Given the description of an element on the screen output the (x, y) to click on. 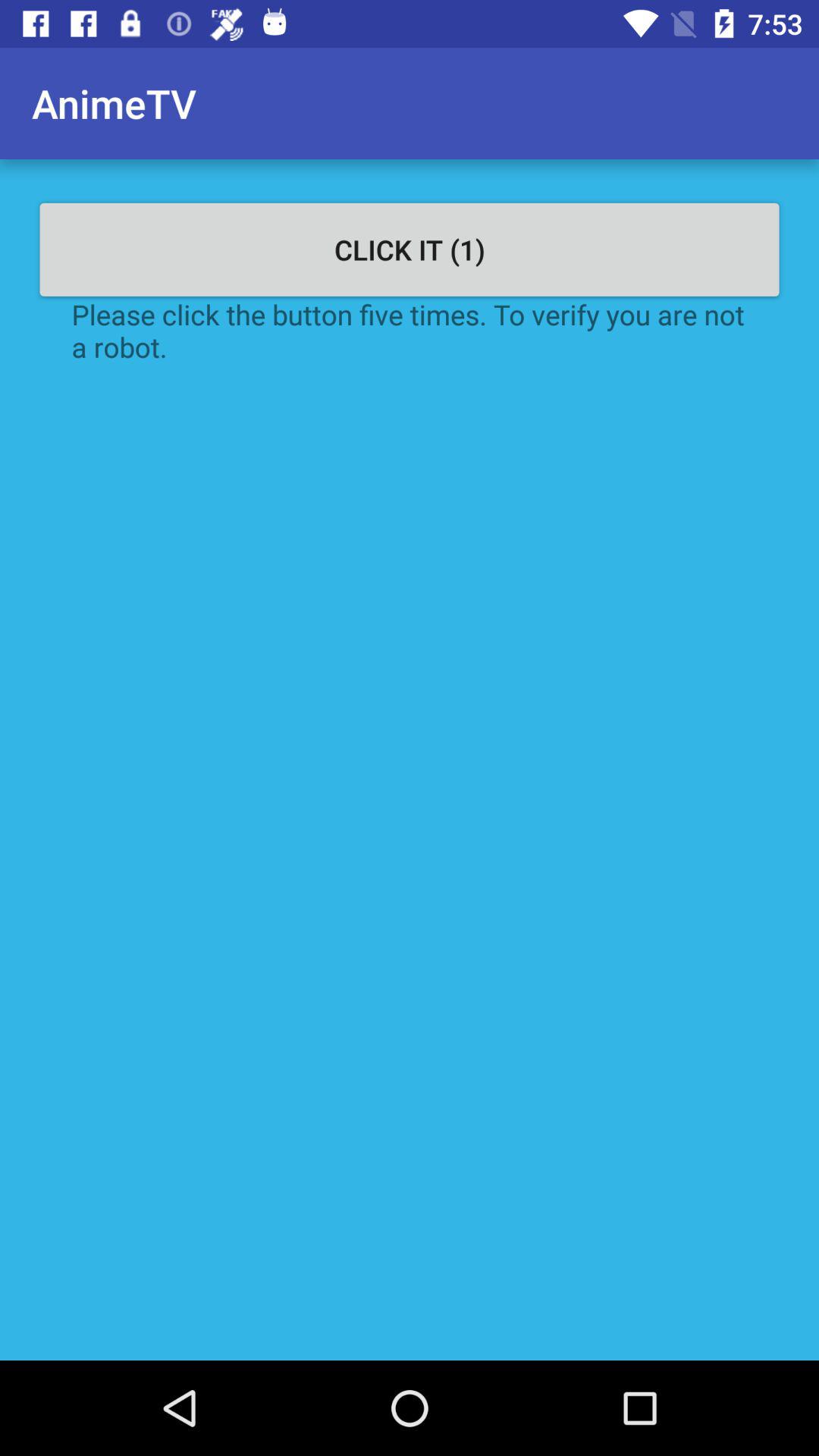
flip until the click it (1) icon (409, 249)
